Given the description of an element on the screen output the (x, y) to click on. 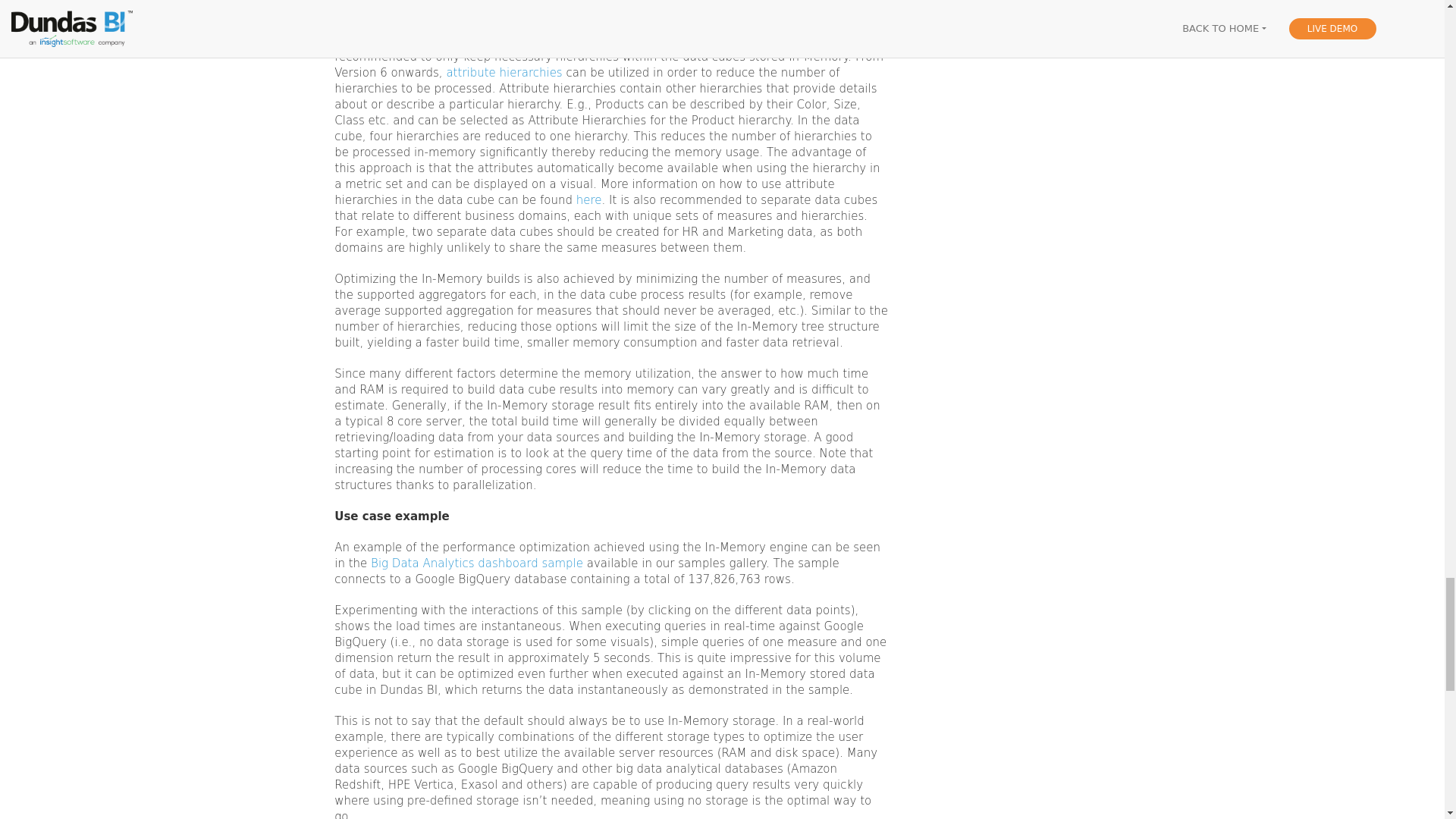
Big Data Analytics dashboard sample (477, 563)
attribute hierarchies (503, 72)
here (589, 200)
see the data cube process results (494, 8)
